Given the description of an element on the screen output the (x, y) to click on. 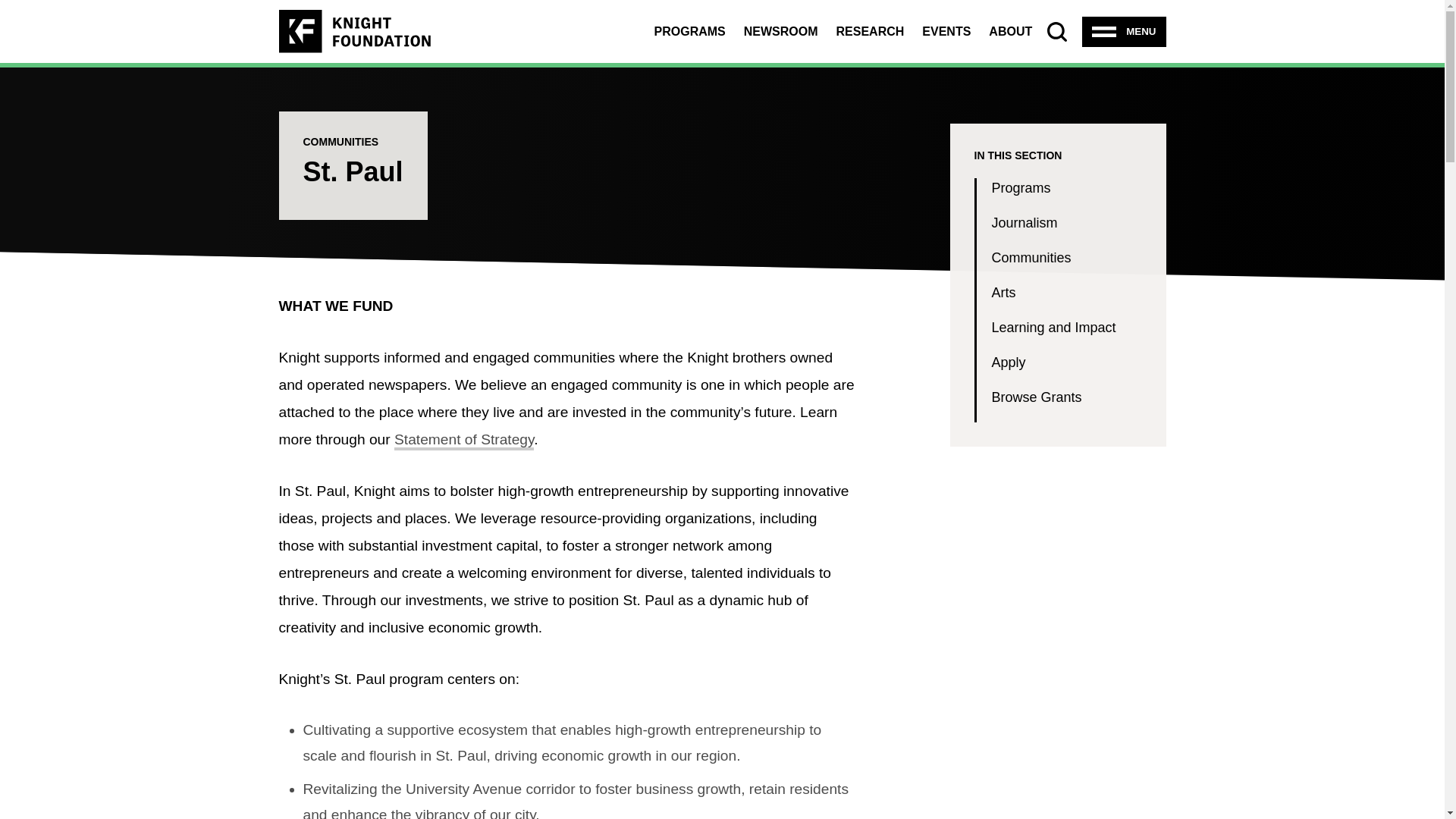
ABOUT (1010, 30)
PROGRAMS (689, 30)
EVENTS (946, 30)
RESEARCH (869, 30)
NEWSROOM (781, 30)
Knight Foundation (354, 31)
MENU (1123, 31)
